Given the description of an element on the screen output the (x, y) to click on. 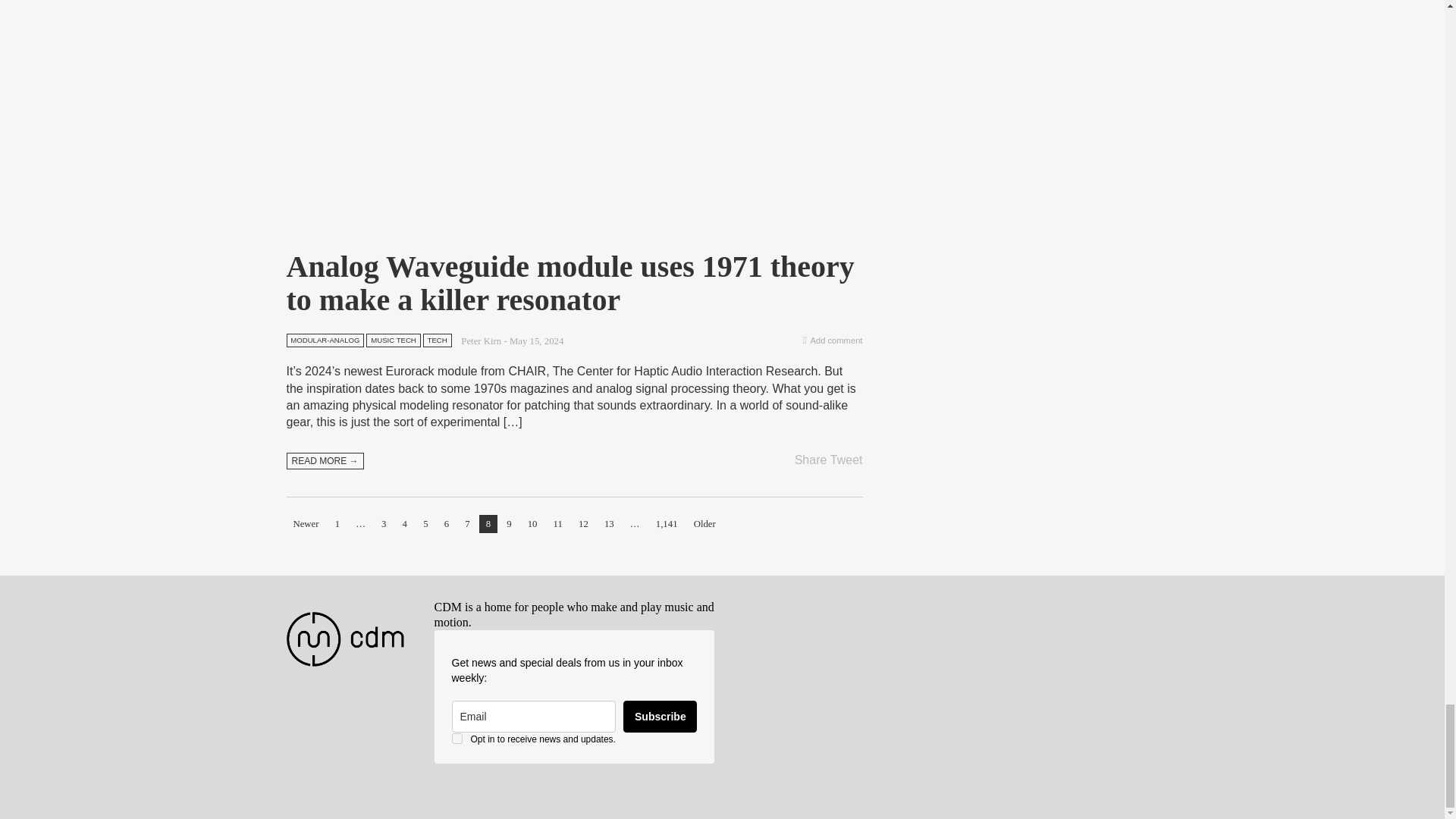
on (457, 738)
